Given the description of an element on the screen output the (x, y) to click on. 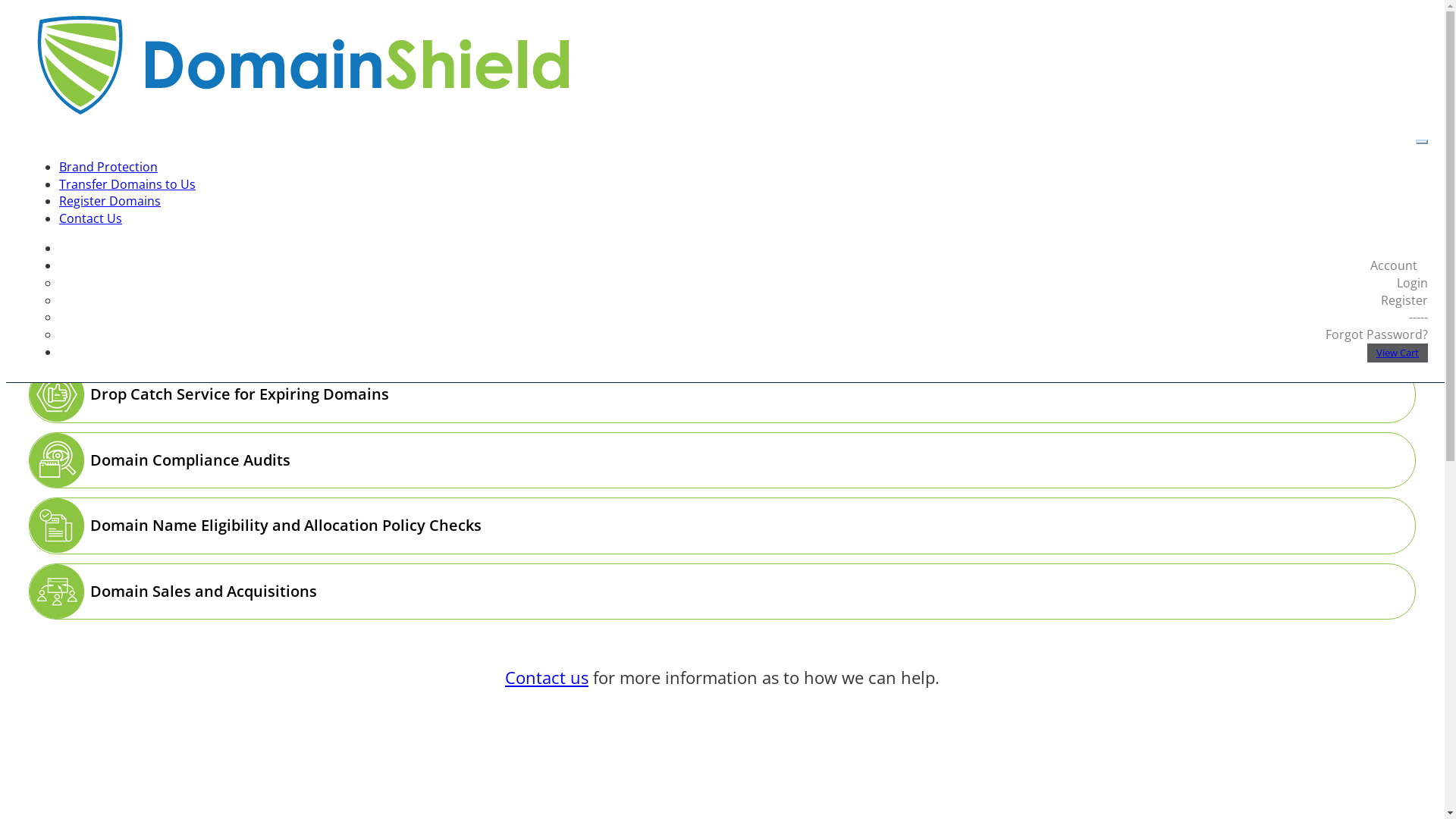
Login Element type: text (1411, 282)
Toggle navigation Element type: text (1421, 141)
Contact Us Element type: text (90, 218)
Register Domains Element type: text (109, 200)
Contact us Element type: text (546, 676)
Transfer Domains to Us Element type: text (127, 183)
Account   Element type: text (1396, 265)
----- Element type: text (1417, 316)
Forgot Password? Element type: text (1376, 334)
Register Element type: text (1403, 299)
Brand Protection Element type: text (108, 166)
View Cart Element type: text (1397, 352)
Portal Home Element type: text (95, 142)
